Given the description of an element on the screen output the (x, y) to click on. 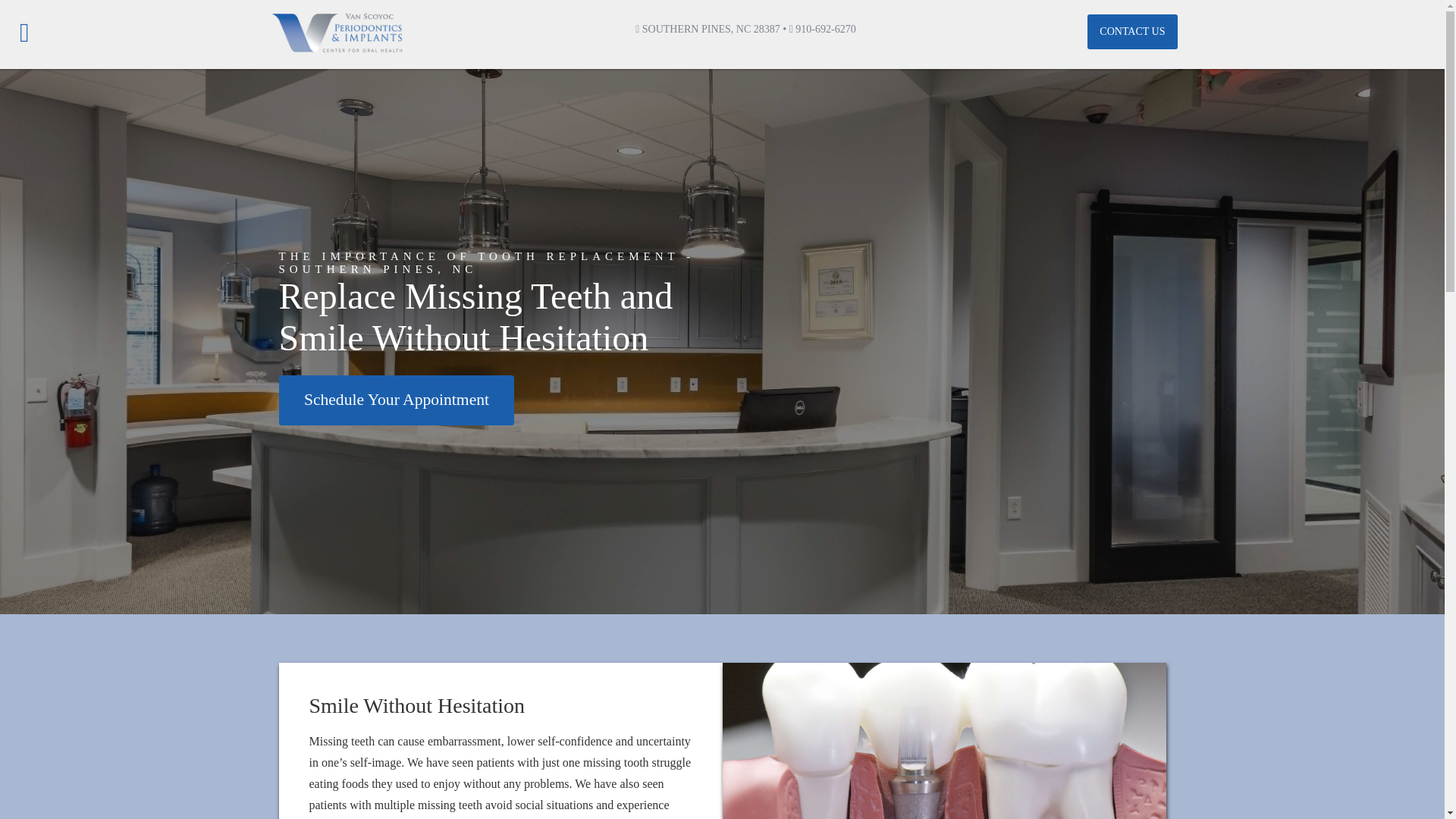
910-692-6270 (822, 29)
CONTACT US (1131, 31)
Schedule Your Appointment (397, 400)
